Given the description of an element on the screen output the (x, y) to click on. 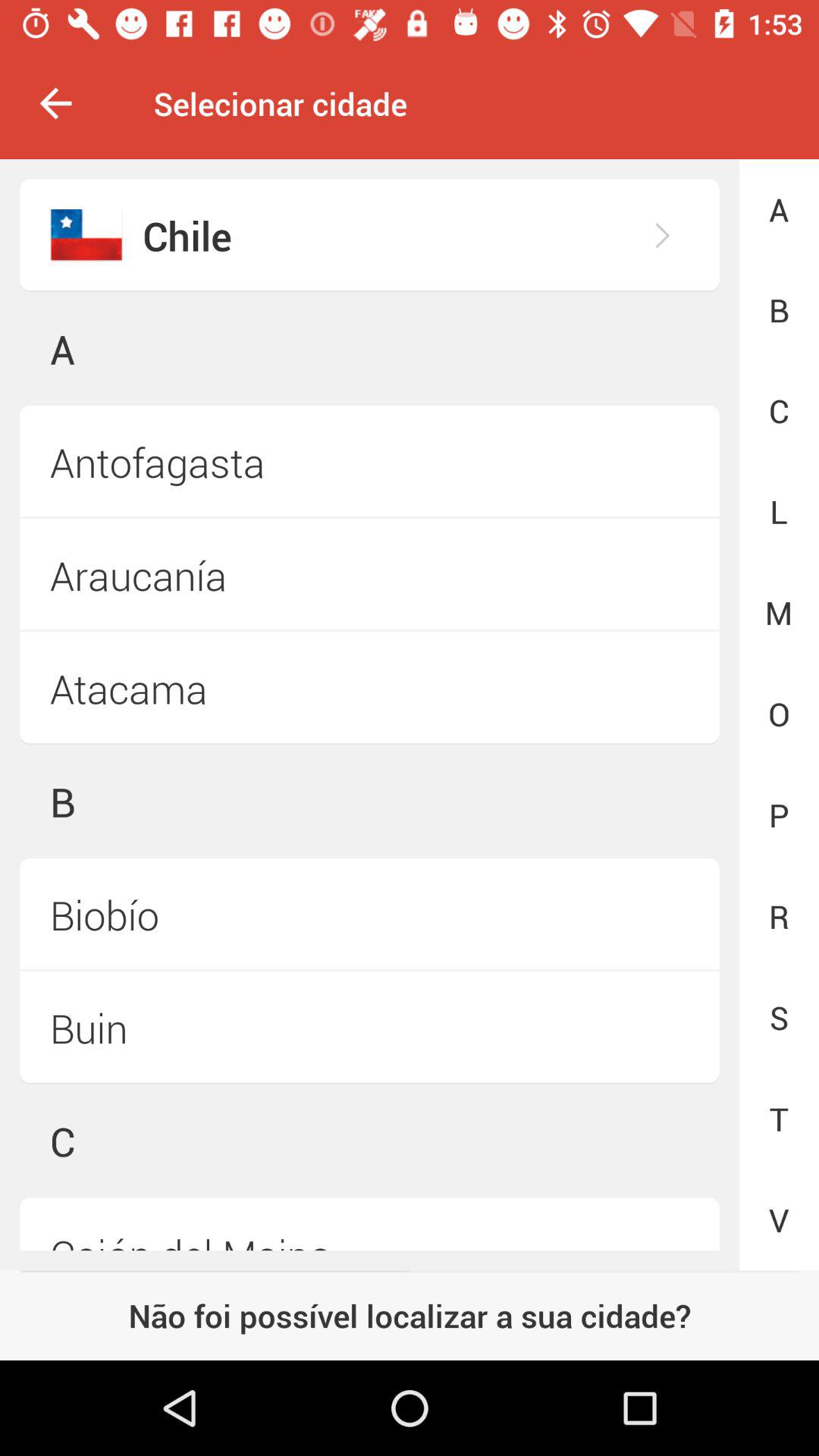
choose icon to the left of the m (369, 574)
